Given the description of an element on the screen output the (x, y) to click on. 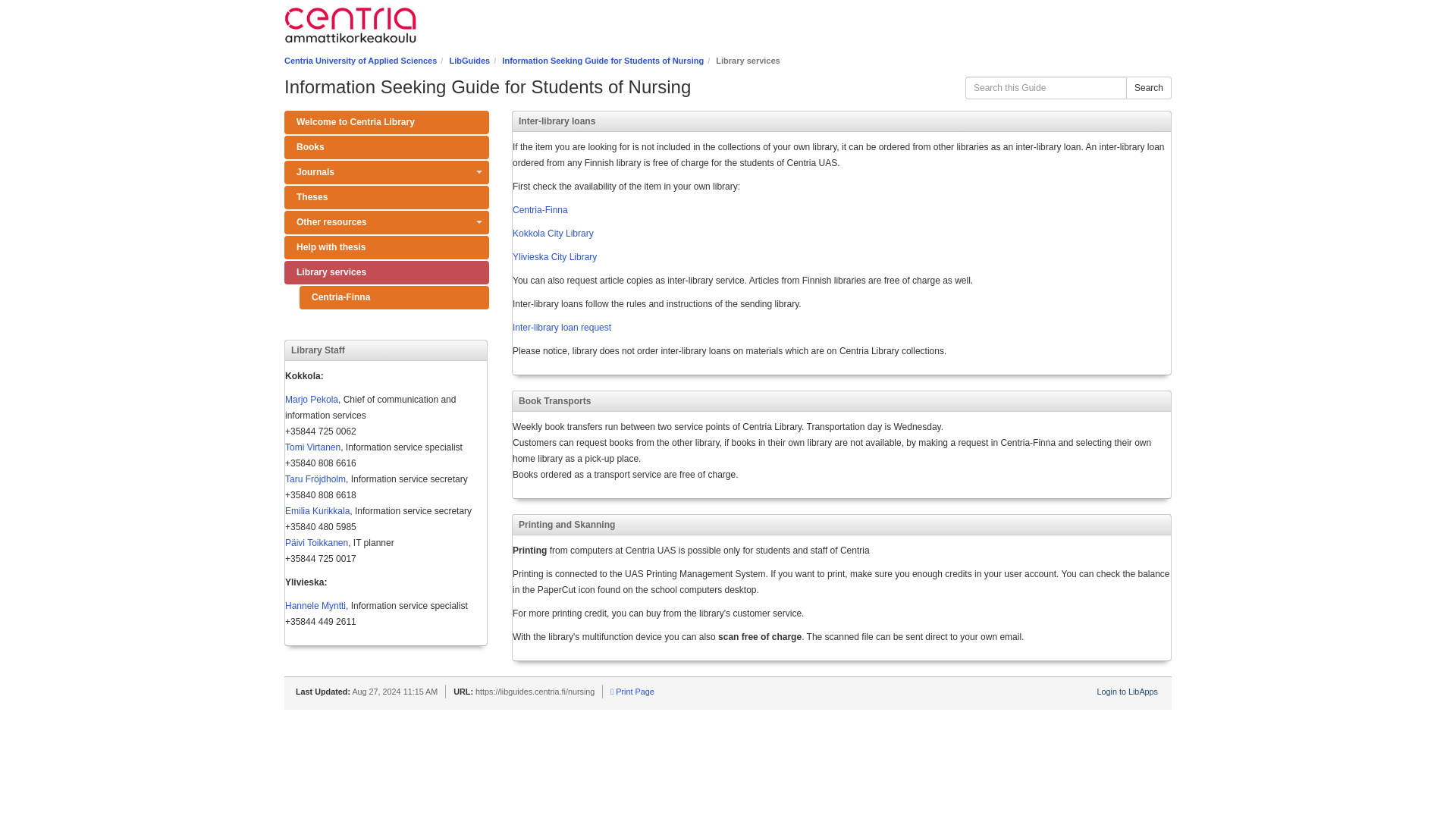
Information Seeking Guide for Students of Nursing (602, 60)
Centria University of Applied Sciences (359, 60)
Tomi Virtanen (312, 447)
Journals (386, 172)
Kokkola City Library (553, 233)
Ylivieska City Library (554, 256)
Login to LibApps (1127, 691)
Centria-Finna (394, 297)
Print Page (631, 691)
Toggle Dropdown (478, 172)
